Given the description of an element on the screen output the (x, y) to click on. 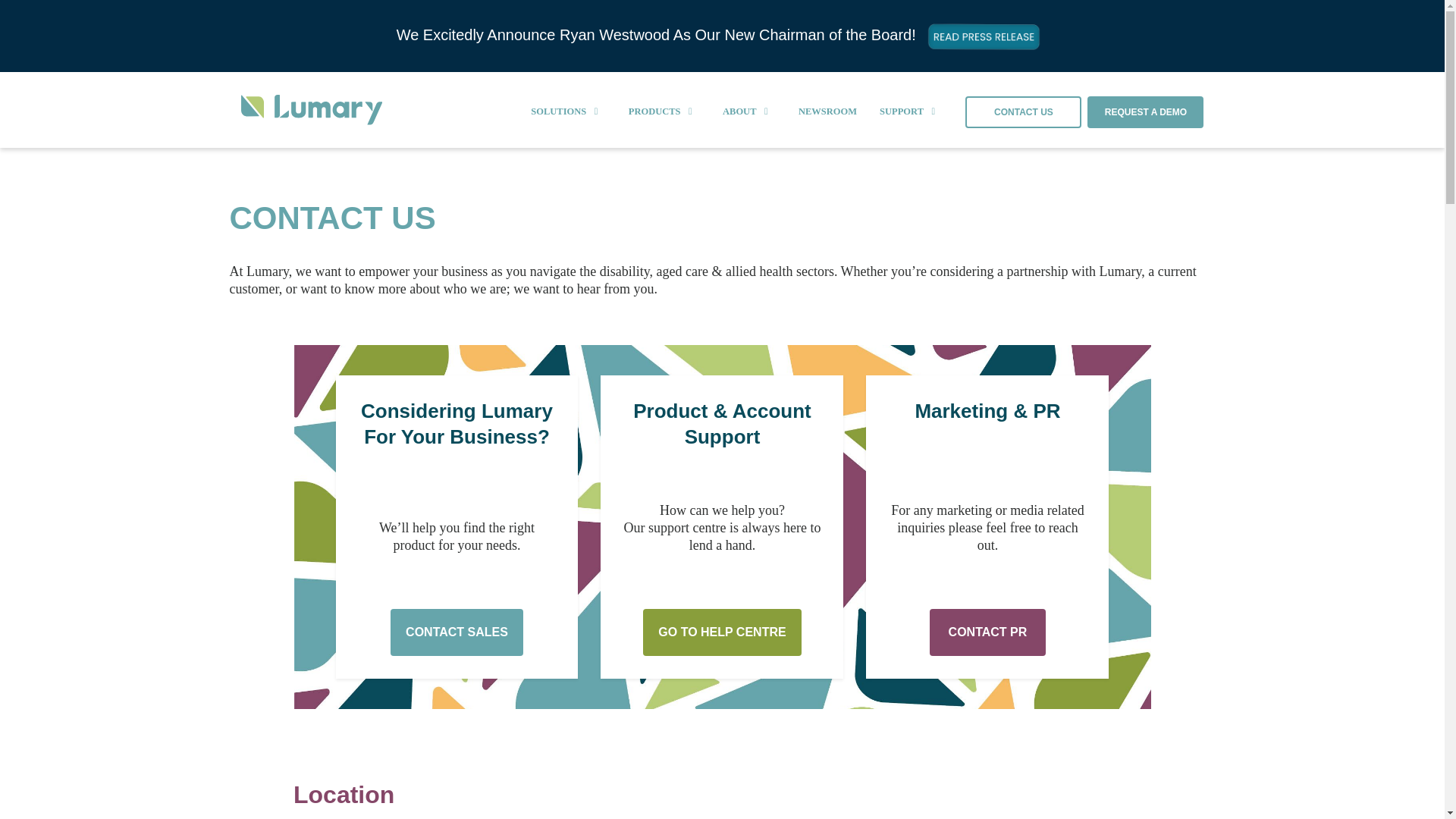
Group Created with Sketch. (311, 109)
Group Created with Sketch. (311, 112)
CONTACT SALES (456, 632)
NEWSROOM (827, 111)
CONTACT US (1023, 112)
GO TO HELP CENTRE (721, 632)
REQUEST A DEMO (1145, 112)
CONTACT PR (987, 632)
